Given the description of an element on the screen output the (x, y) to click on. 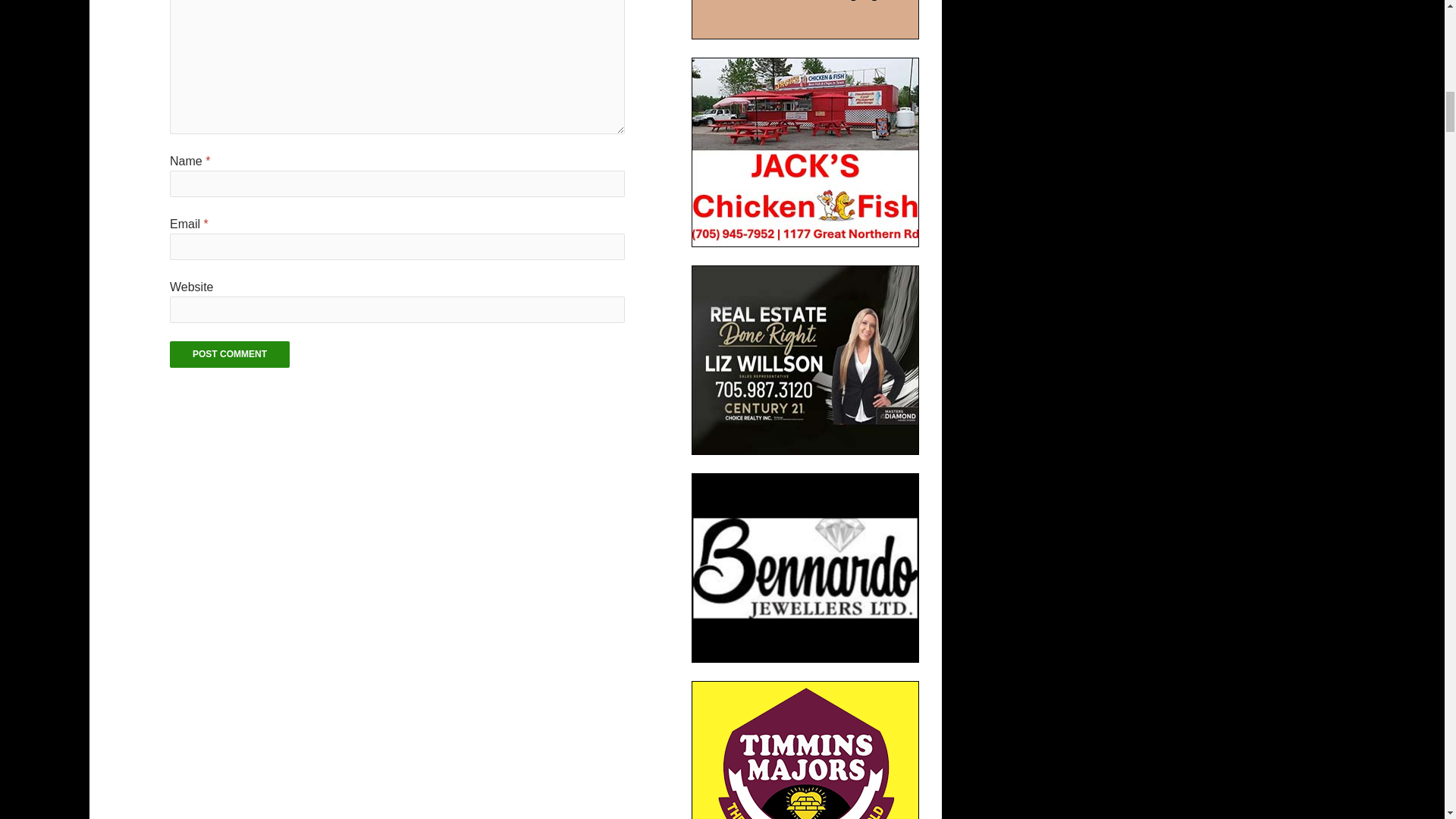
Post Comment (229, 354)
